Given the description of an element on the screen output the (x, y) to click on. 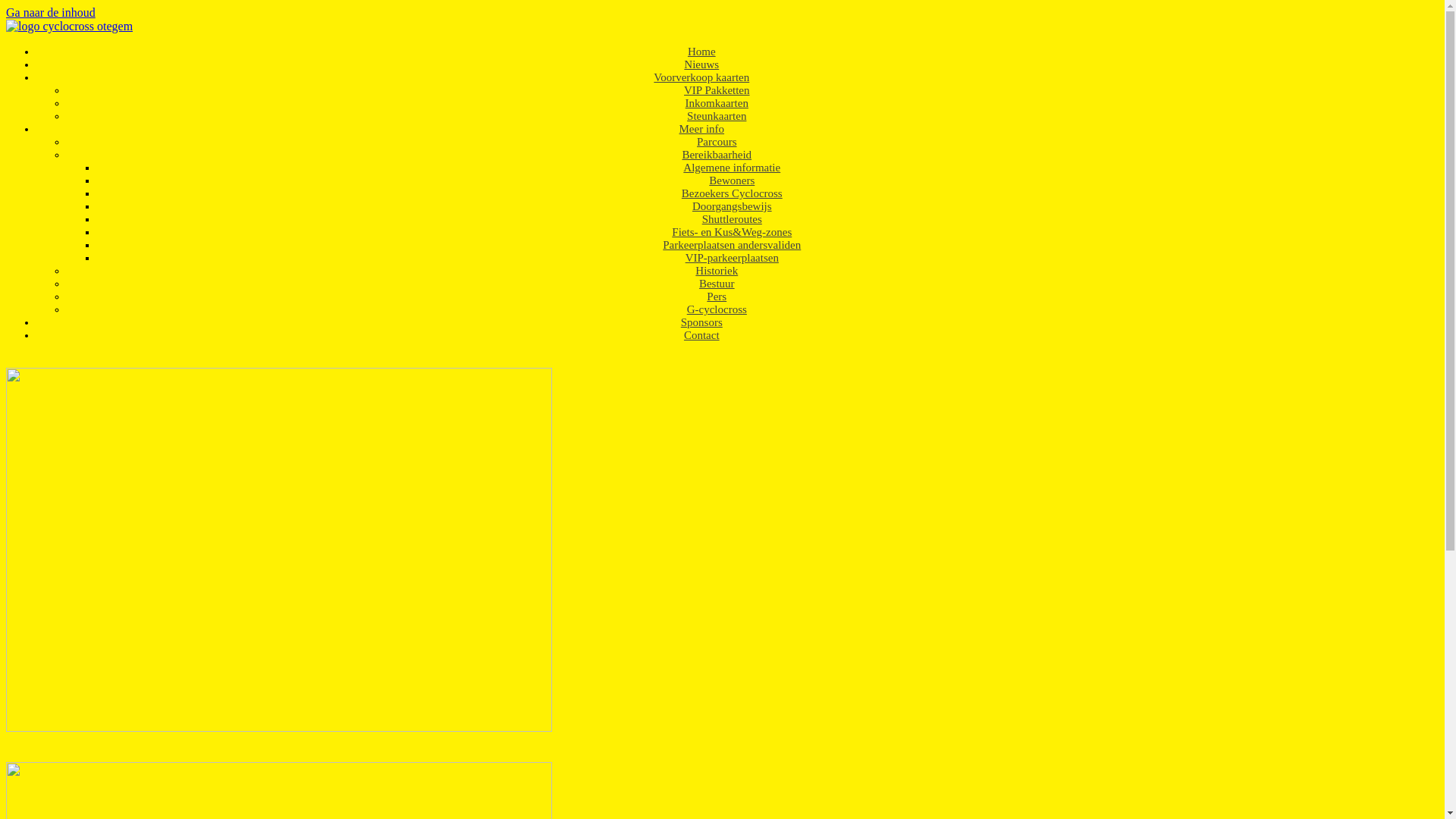
Fiets- en Kus&Weg-zones Element type: text (731, 231)
Steunkaarten Element type: text (716, 115)
Sponsors Element type: text (701, 322)
Bewoners Element type: text (731, 180)
Inkomkaarten Element type: text (716, 103)
Home Element type: text (701, 51)
VIP Pakketten Element type: text (716, 90)
Cyclocross Otegem | Koninklijke wielerclub Otegem boven VZW Element type: hover (69, 25)
VIP-parkeerplaatsen Element type: text (732, 257)
Ga naar de inhoud Element type: text (50, 12)
Bestuur Element type: text (716, 283)
Parcours Element type: text (716, 141)
Pers Element type: text (716, 296)
Doorgangsbewijs Element type: text (731, 206)
Nieuws Element type: text (701, 64)
Shuttleroutes Element type: text (731, 219)
Meer info Element type: text (701, 128)
Contact Element type: text (701, 335)
Historiek Element type: text (716, 270)
Voorverkoop kaarten Element type: text (701, 77)
Bezoekers Cyclocross Element type: text (731, 193)
Parkeerplaatsen andersvaliden Element type: text (731, 244)
G-cyclocross Element type: text (716, 309)
Bereikbaarheid Element type: text (716, 154)
Algemene informatie Element type: text (731, 167)
